Given the description of an element on the screen output the (x, y) to click on. 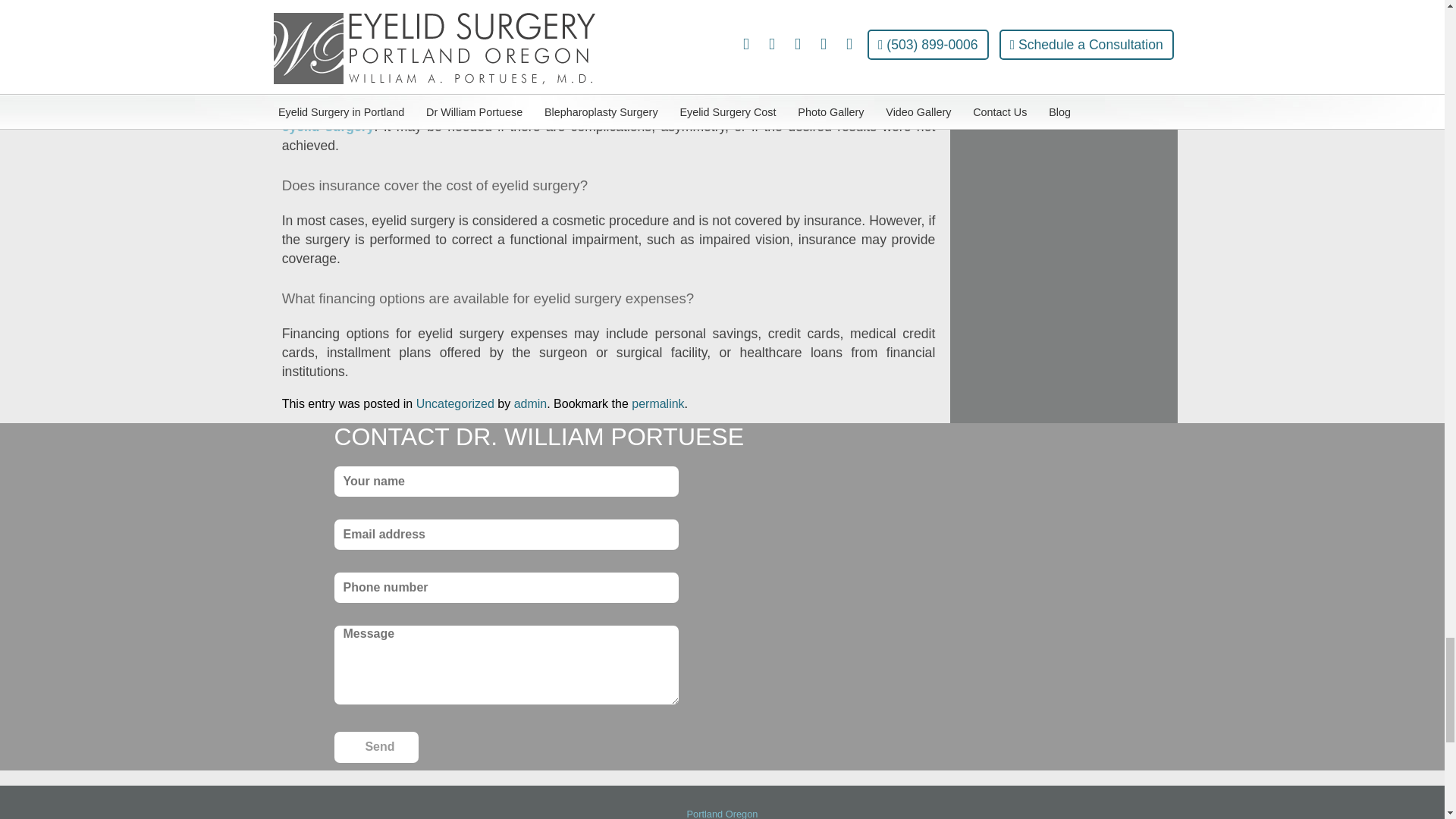
permalink (657, 403)
Send (375, 747)
Permalink to What is the cost of eyelid surgery? (657, 403)
Uncategorized (455, 403)
Send (375, 747)
admin (530, 403)
eyelid surgery (328, 126)
Portland Oregon (722, 813)
